Given the description of an element on the screen output the (x, y) to click on. 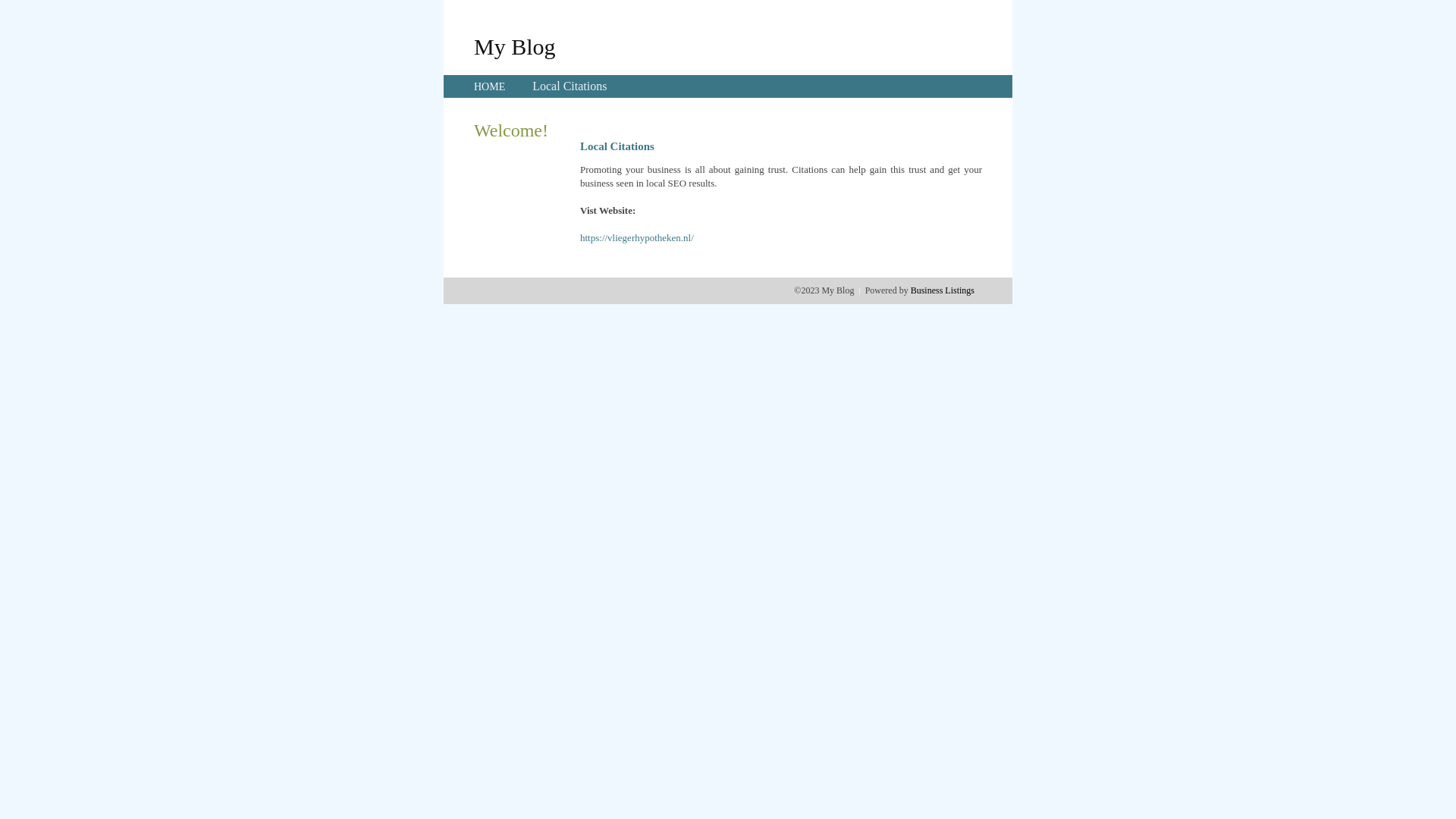
https://vliegerhypotheken.nl/ Element type: text (636, 237)
HOME Element type: text (489, 86)
My Blog Element type: text (514, 46)
Business Listings Element type: text (942, 290)
Local Citations Element type: text (569, 85)
